Given the description of an element on the screen output the (x, y) to click on. 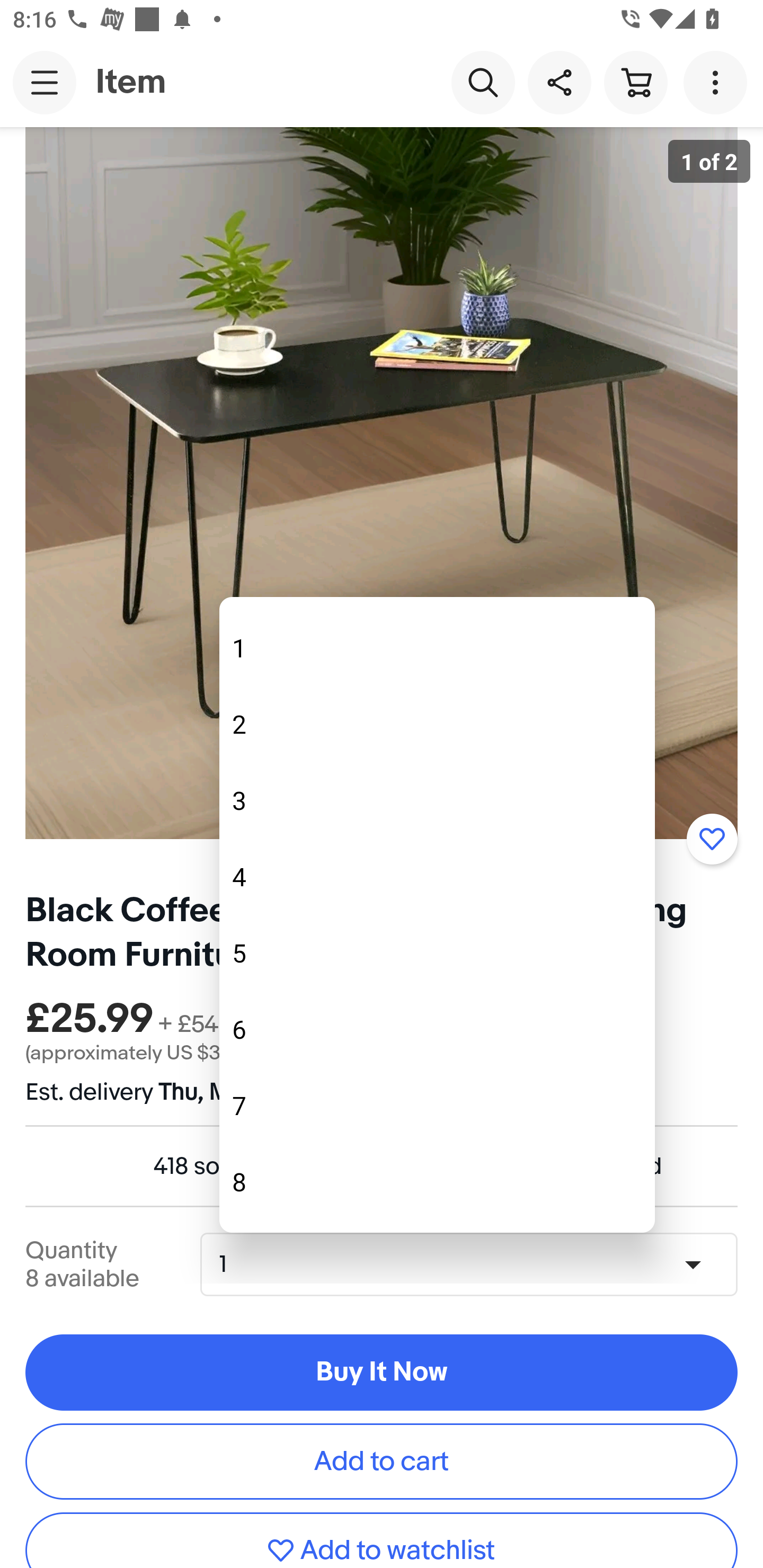
1 (436, 647)
2 (436, 724)
3 (436, 800)
4 (436, 876)
5 (436, 952)
6 (436, 1028)
7 (436, 1105)
8 (436, 1181)
